Given the description of an element on the screen output the (x, y) to click on. 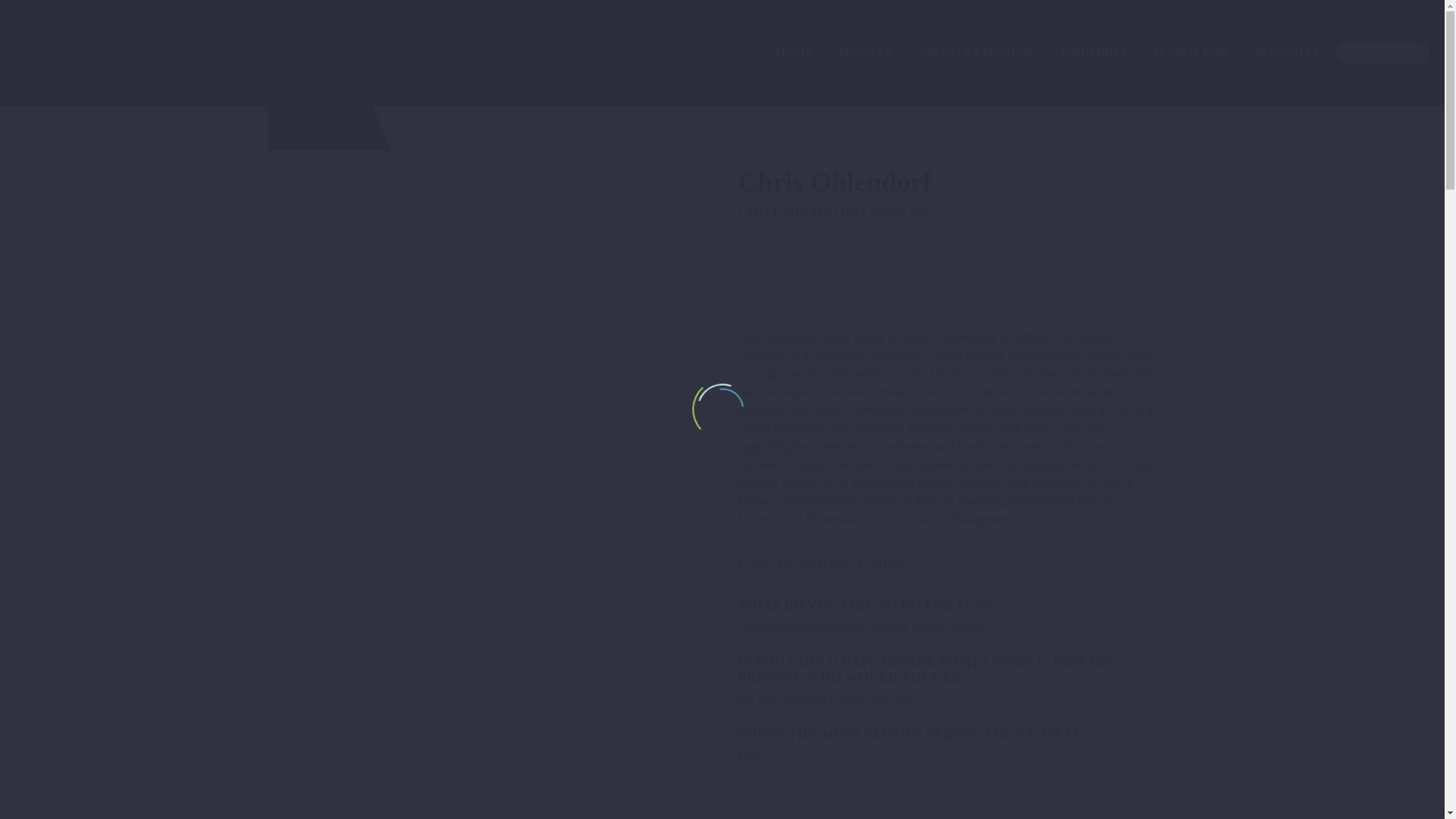
ABOUT (791, 52)
INDUSTRIES (1093, 52)
SERVICES (864, 52)
SEARCH JOBS (1190, 52)
CONTACT US (1382, 52)
AREAS OF EXPERTISE (976, 52)
RESOURCES (1286, 52)
